Given the description of an element on the screen output the (x, y) to click on. 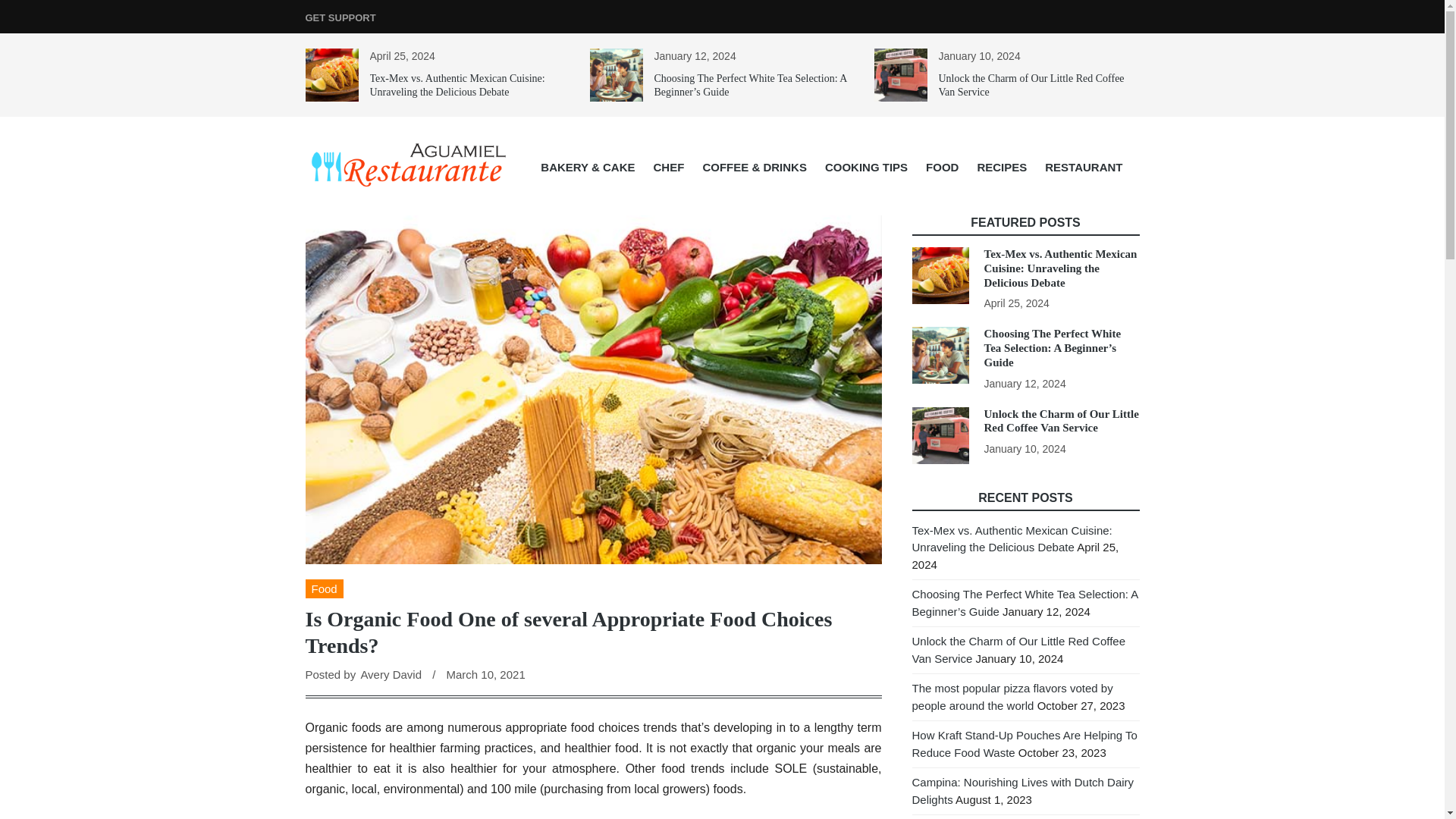
Posts by Avery David (390, 674)
Food (323, 588)
RECIPES (1001, 167)
COOKING TIPS (866, 167)
GET SUPPORT (339, 17)
RESTAURANT (1083, 167)
FOOD (942, 167)
Avery David (390, 674)
CHEF (669, 167)
